Given the description of an element on the screen output the (x, y) to click on. 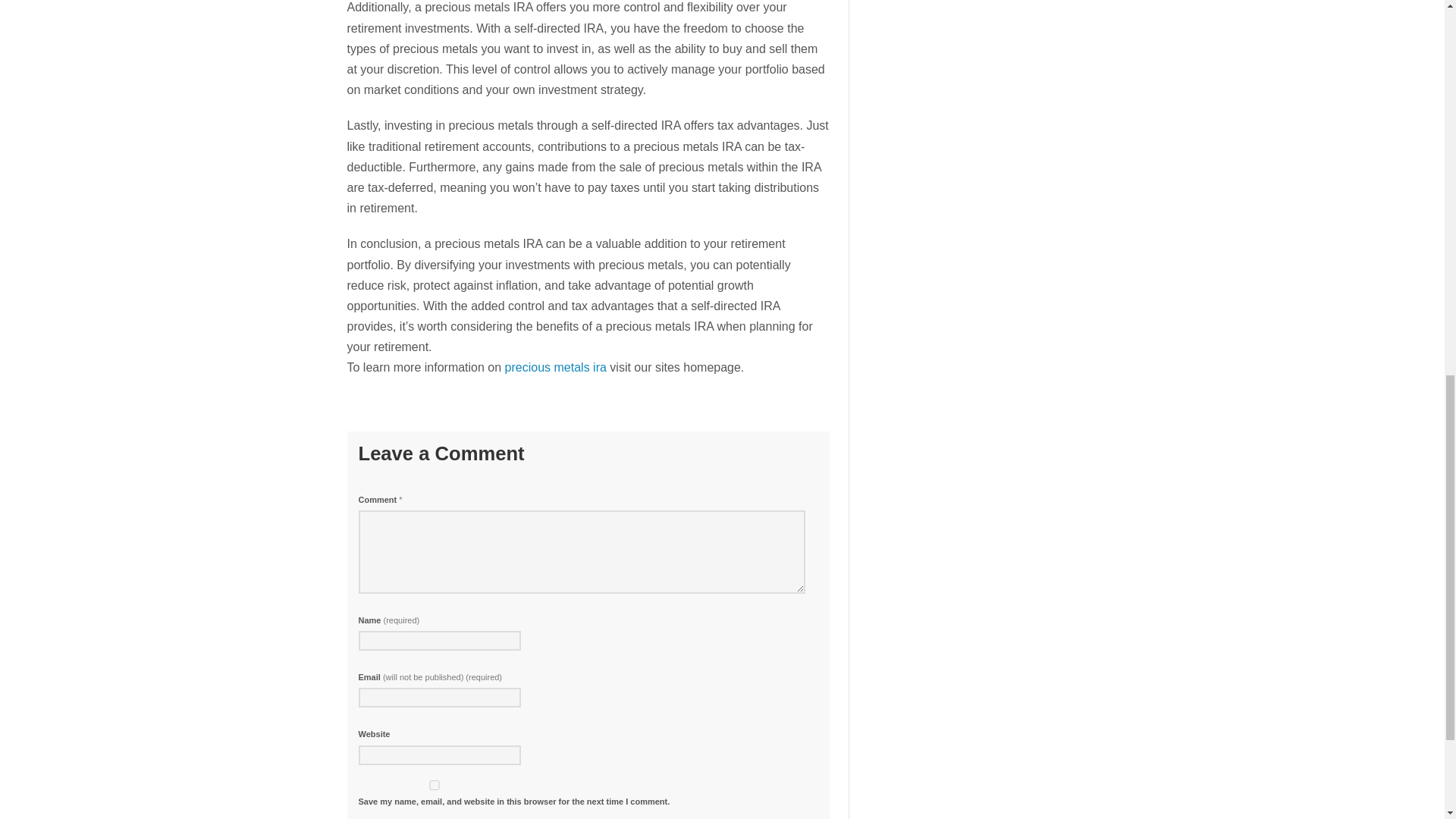
precious metals ira (556, 367)
yes (433, 785)
